Given the description of an element on the screen output the (x, y) to click on. 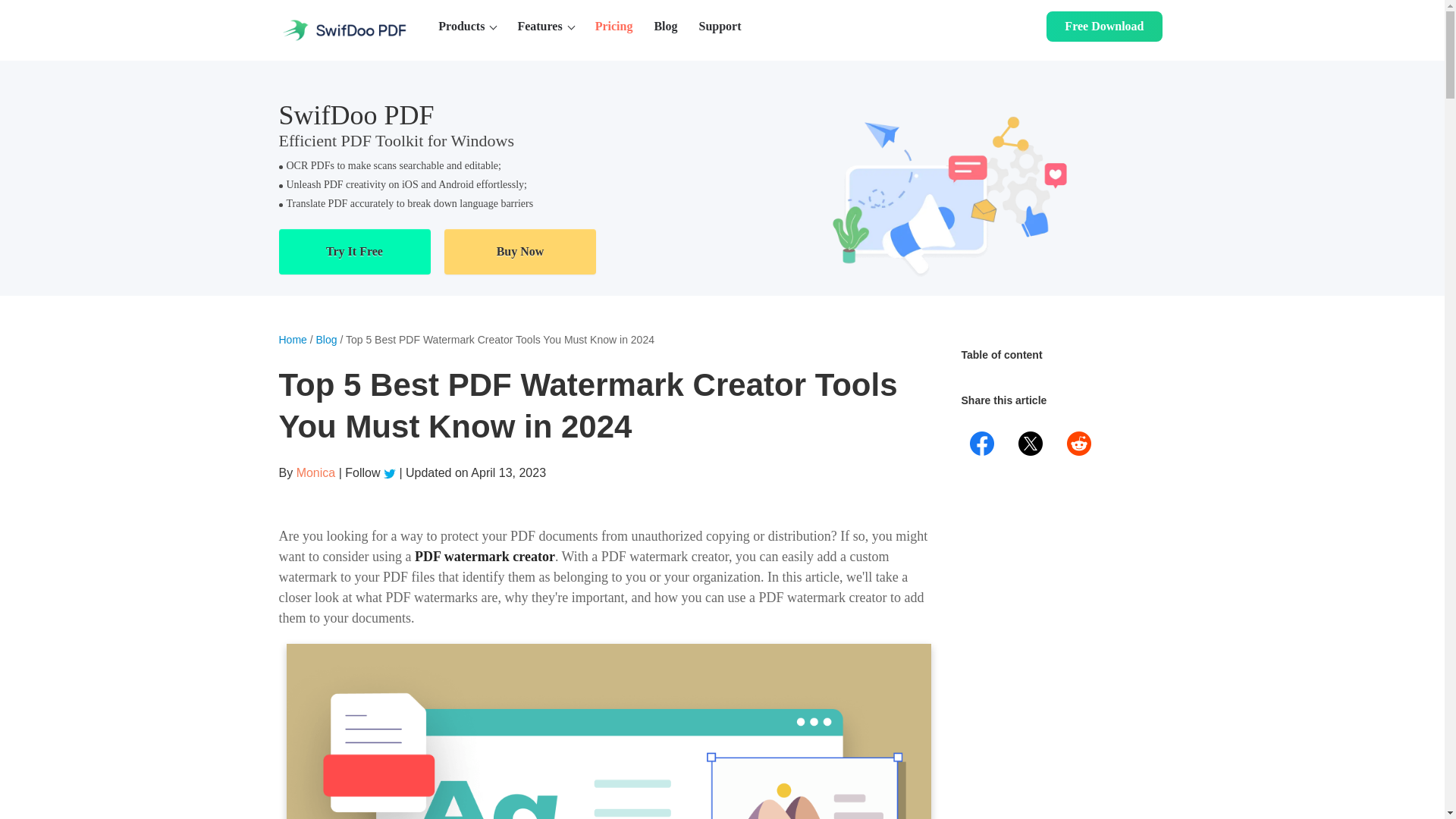
Products (467, 26)
Features (544, 26)
Support (720, 26)
Free Download (1103, 26)
Twitter (391, 472)
Pricing (614, 26)
Blog (665, 26)
